Given the description of an element on the screen output the (x, y) to click on. 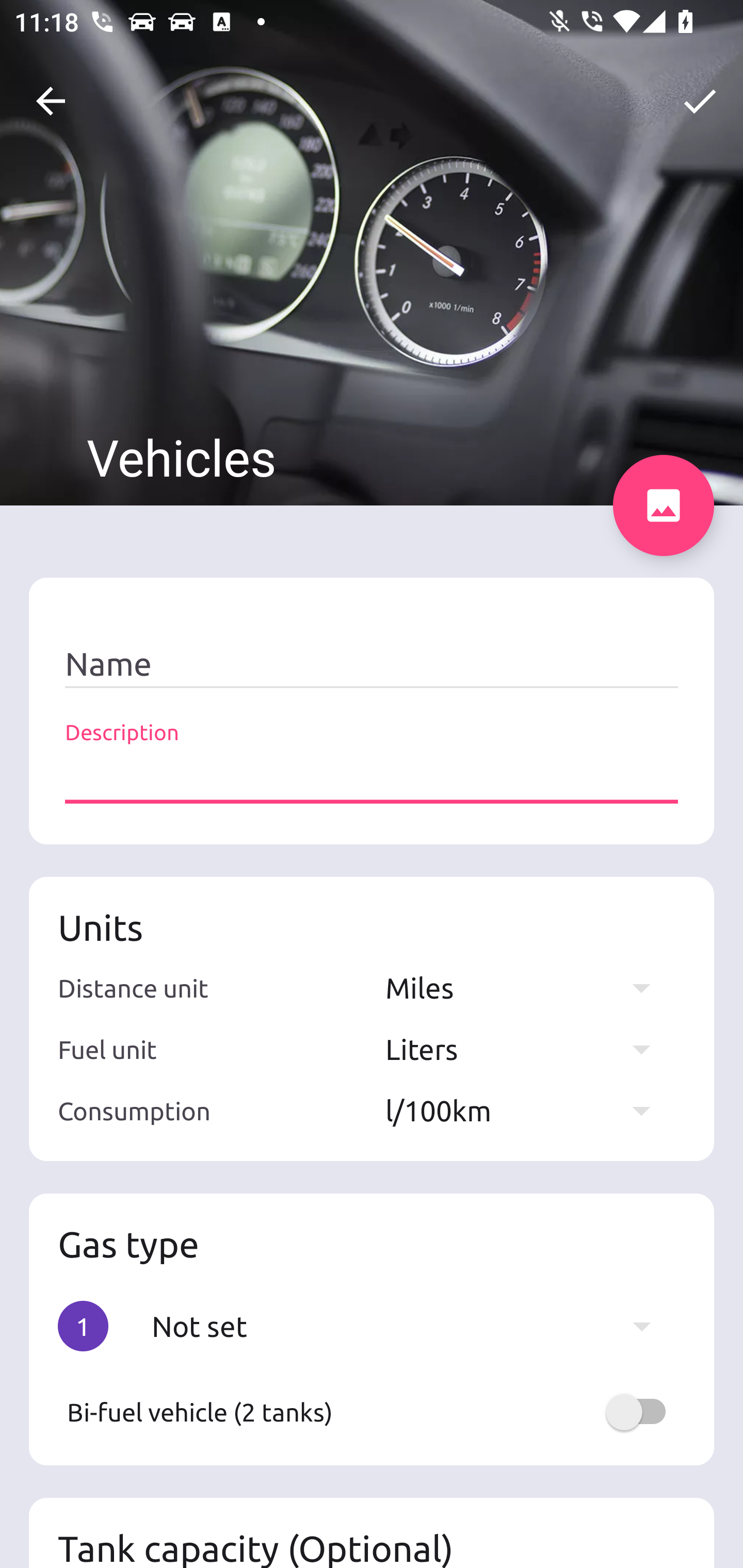
Navigate up (50, 101)
OK (699, 101)
Name (371, 664)
Description (371, 777)
Miles (527, 987)
Liters (527, 1048)
l/100km (527, 1110)
Not set (411, 1325)
Bi-fuel vehicle (2 tanks) (371, 1411)
